Given the description of an element on the screen output the (x, y) to click on. 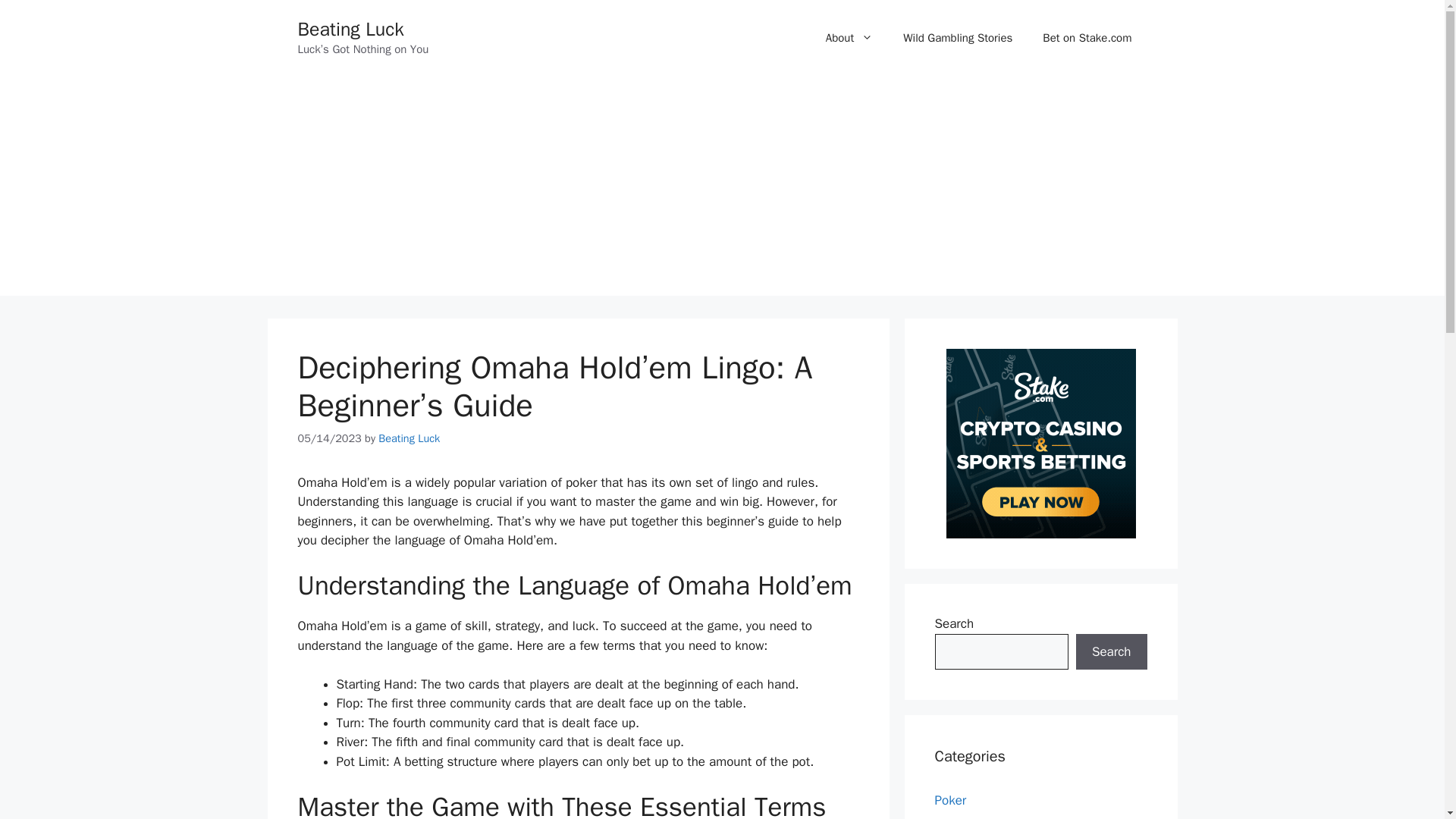
Search (1111, 651)
Poker (950, 800)
About (849, 37)
Wild Gambling Stories (957, 37)
Beating Luck (350, 28)
Bet on Stake.com (1087, 37)
Beating Luck (408, 438)
View all posts by Beating Luck (408, 438)
